Given the description of an element on the screen output the (x, y) to click on. 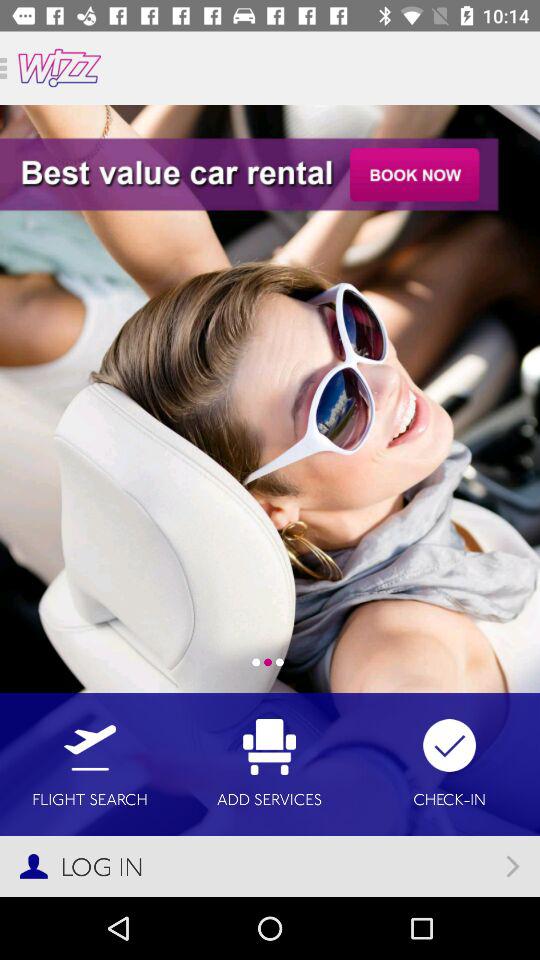
click the item to the left of check-in (269, 764)
